Given the description of an element on the screen output the (x, y) to click on. 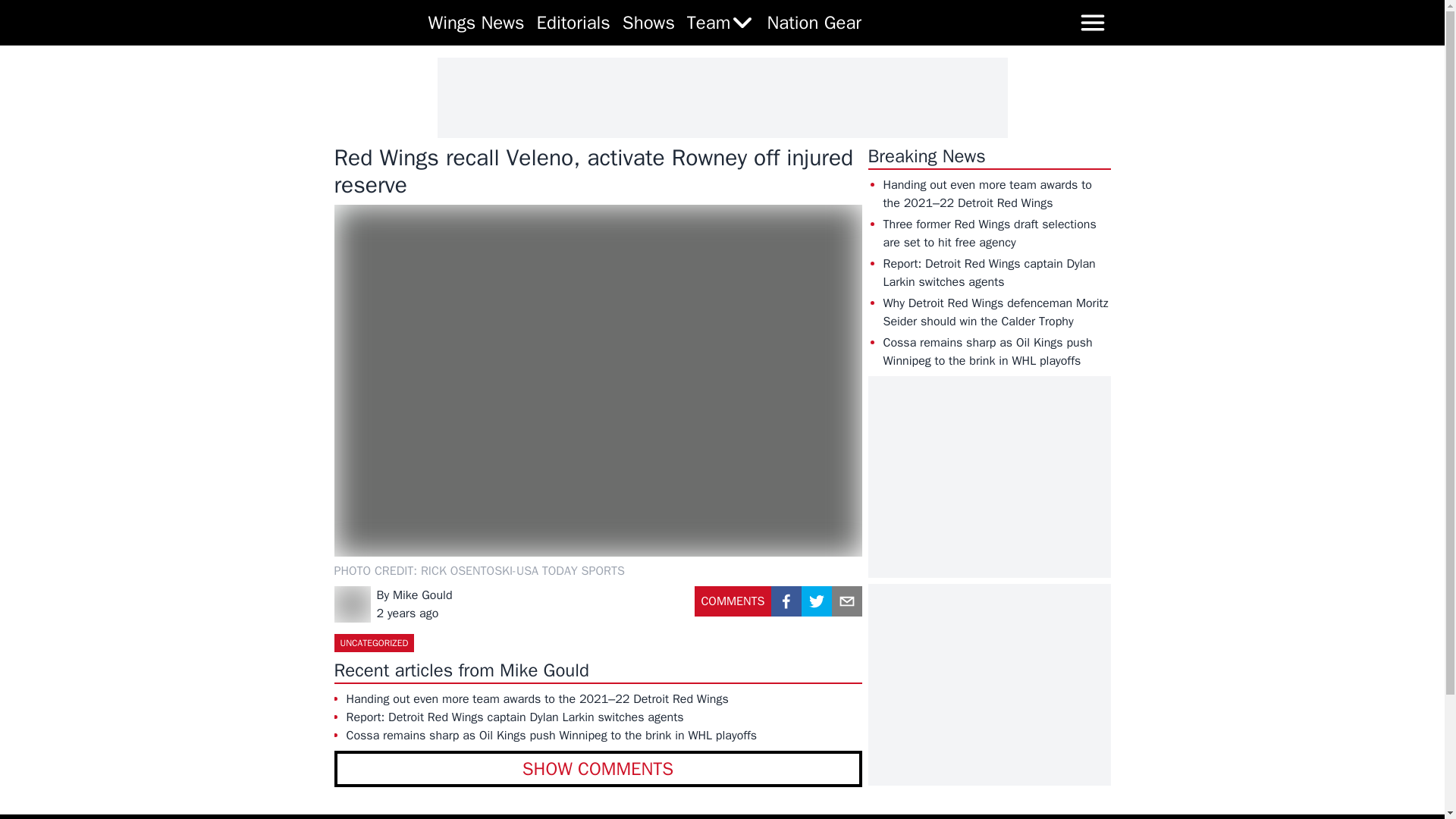
Editorials (573, 22)
SHOW COMMENTS (597, 769)
SHOW COMMENTS (597, 769)
Wings News (476, 22)
Mike Gould (422, 595)
